Given the description of an element on the screen output the (x, y) to click on. 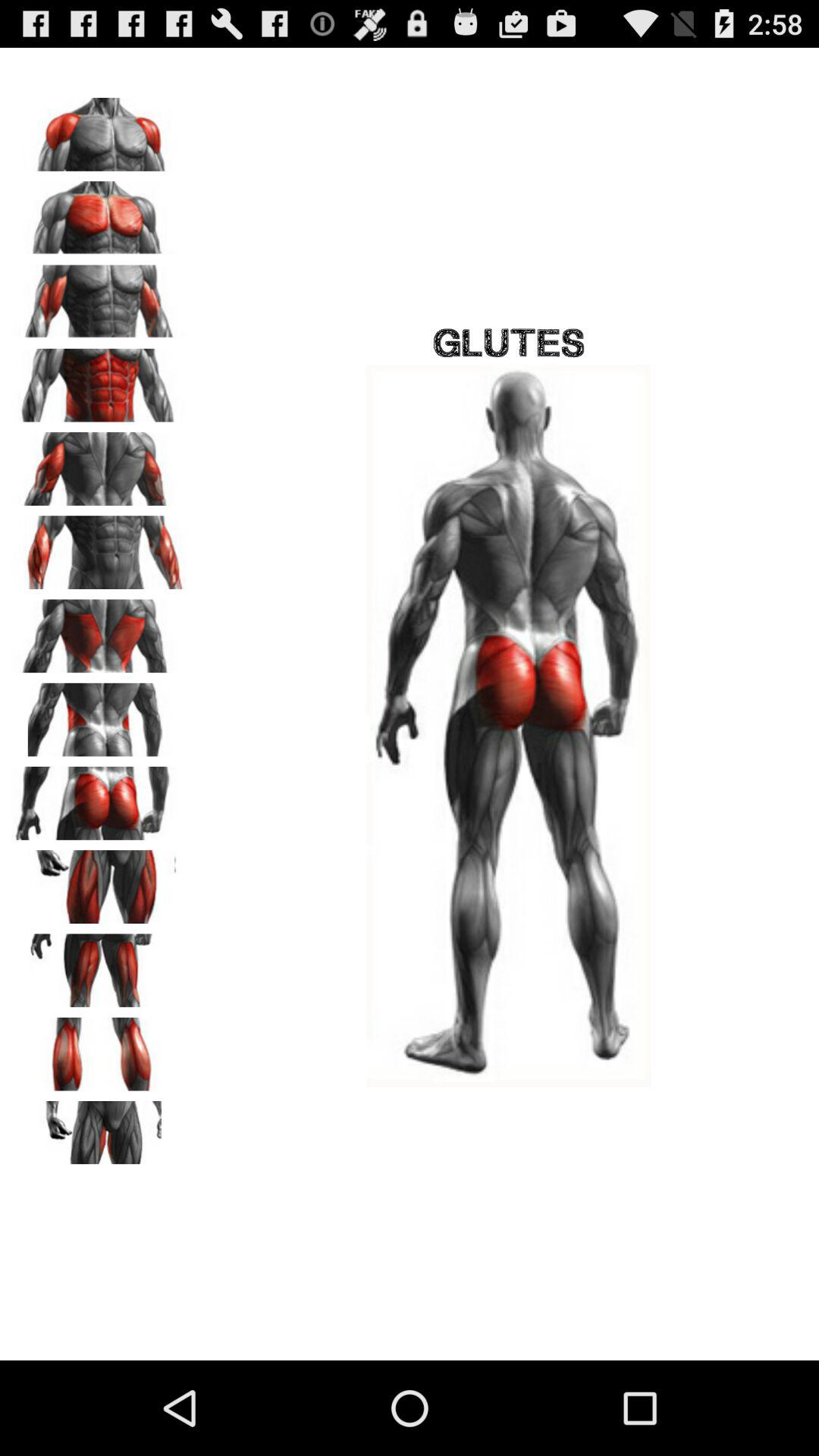
thighs (99, 881)
